Given the description of an element on the screen output the (x, y) to click on. 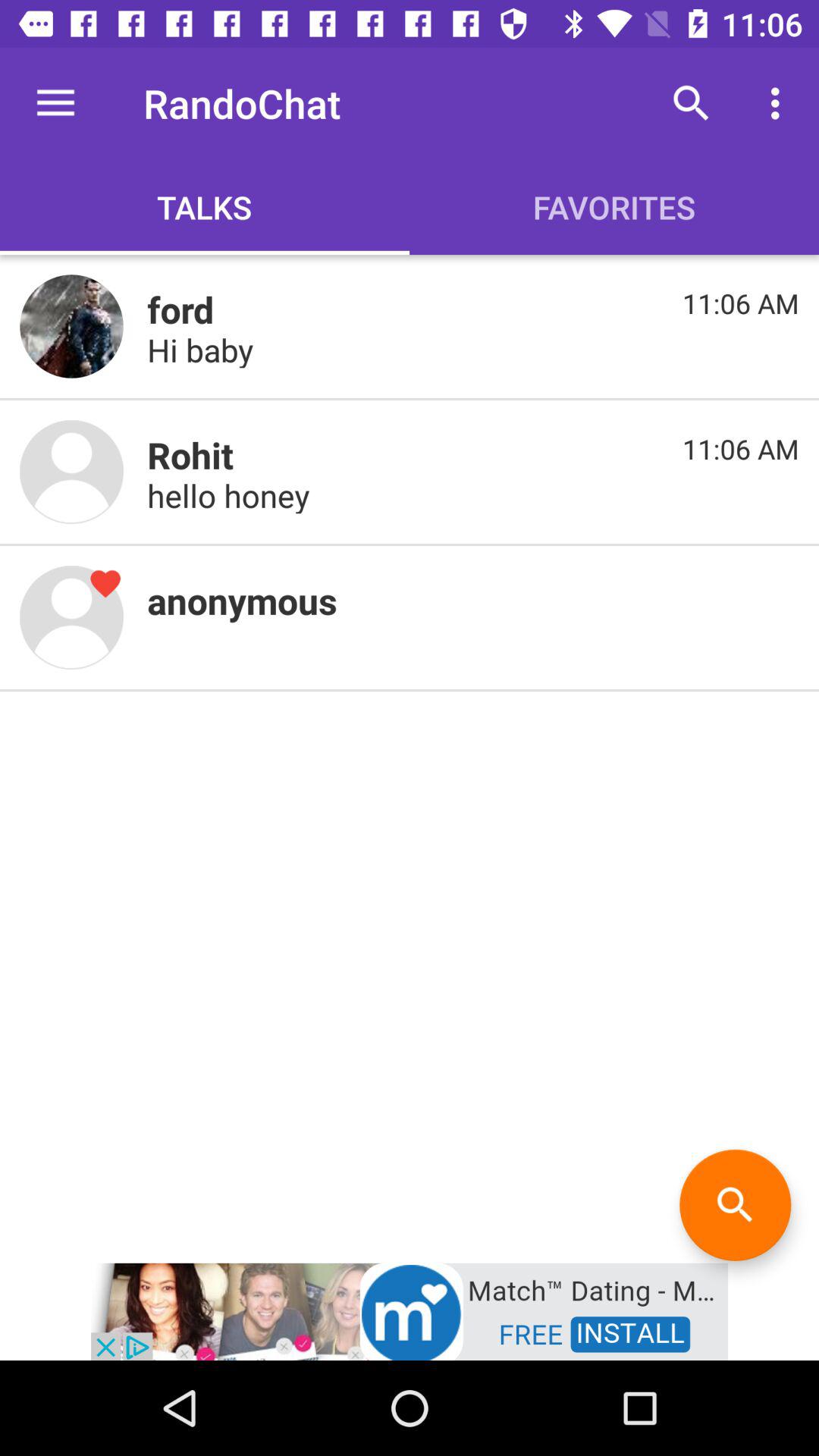
advertisement (409, 1310)
